Given the description of an element on the screen output the (x, y) to click on. 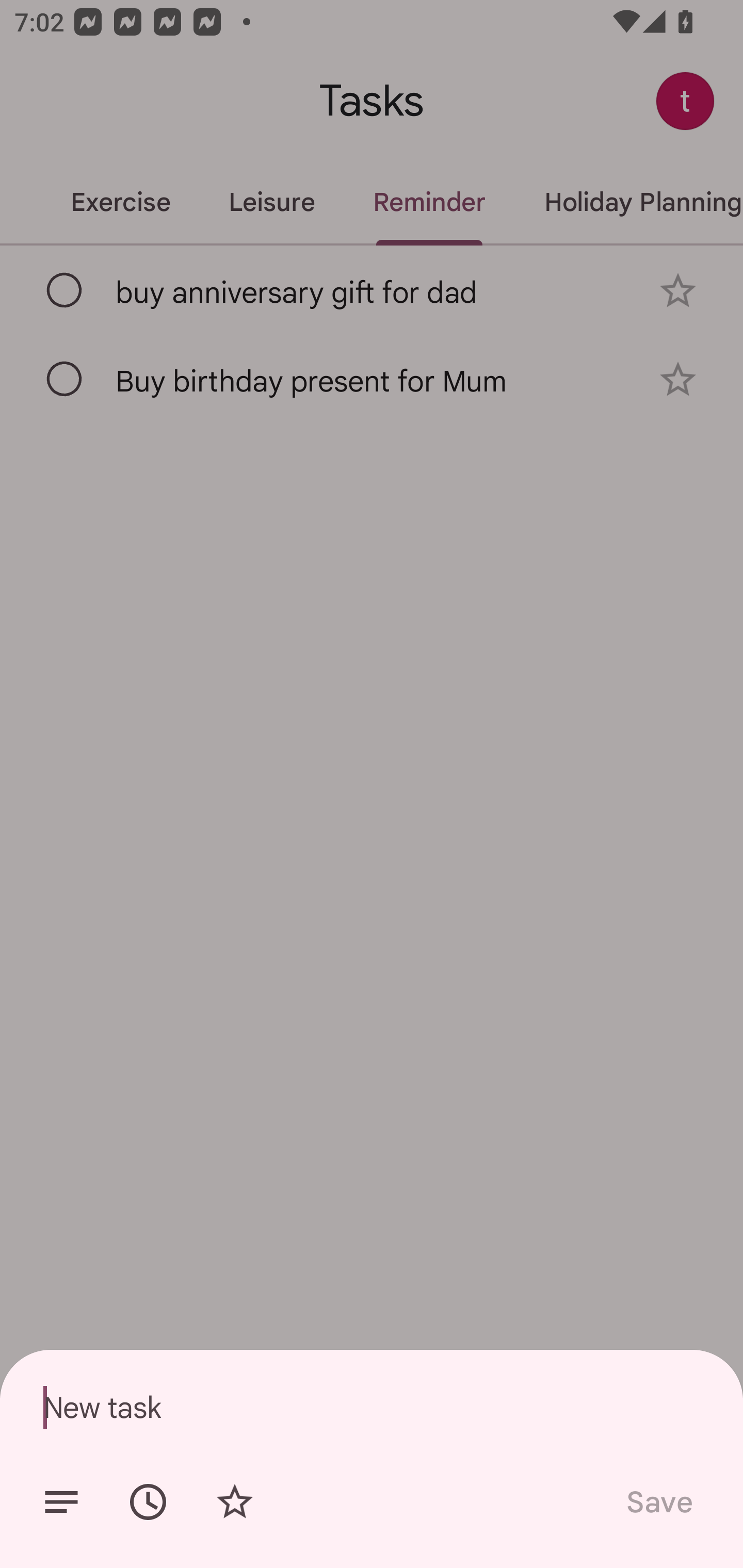
New task (371, 1407)
Save (659, 1501)
Add details (60, 1501)
Set date/time (147, 1501)
Add star (234, 1501)
